Given the description of an element on the screen output the (x, y) to click on. 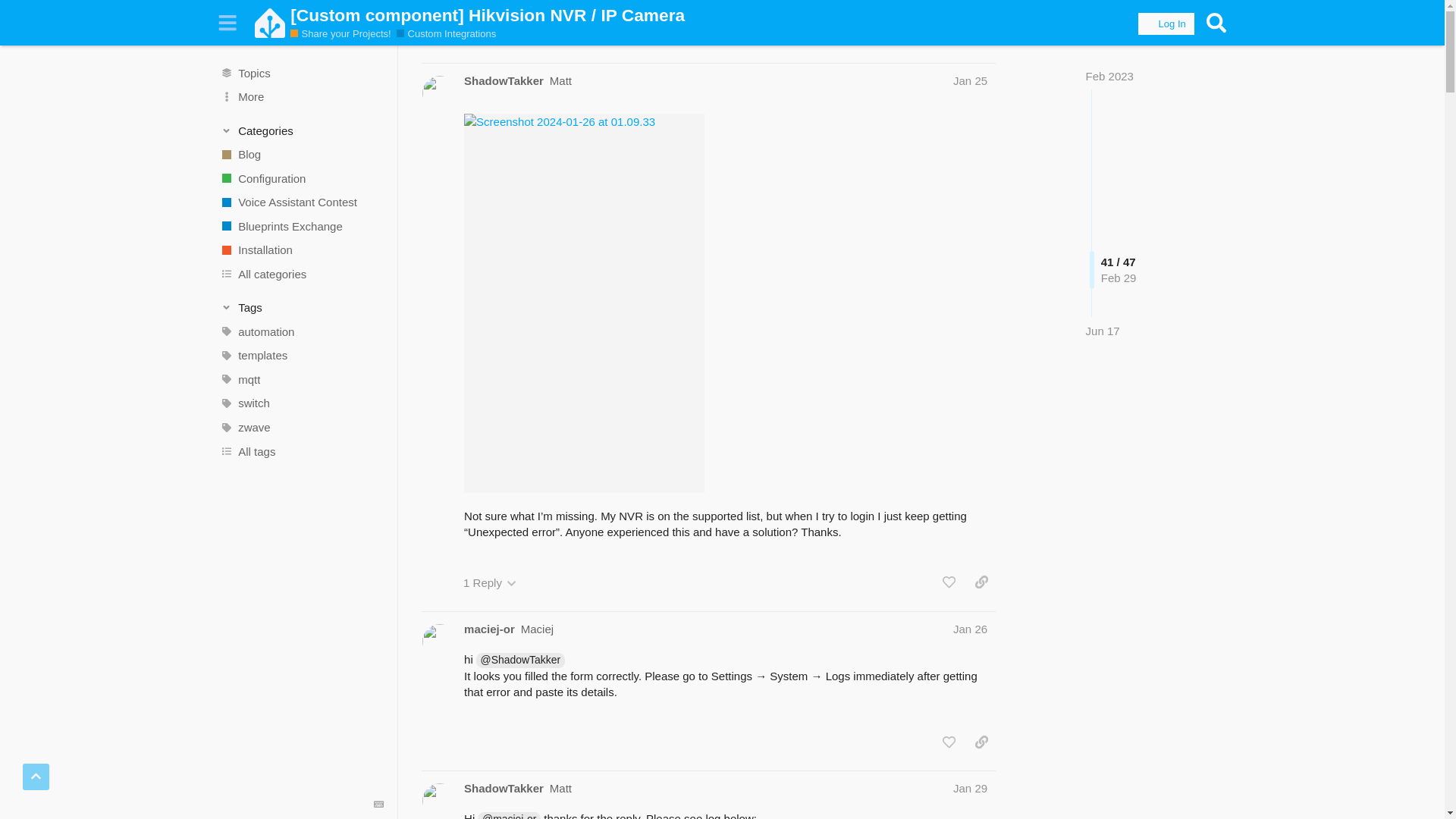
Share your Projects! (340, 33)
More (301, 96)
Categories (301, 130)
All topics (301, 72)
zwave (301, 427)
1 Reply (489, 582)
Blog (301, 154)
automation (301, 331)
Topics (301, 72)
Tags (301, 307)
Share your custom components! (446, 33)
Search (1215, 22)
